Given the description of an element on the screen output the (x, y) to click on. 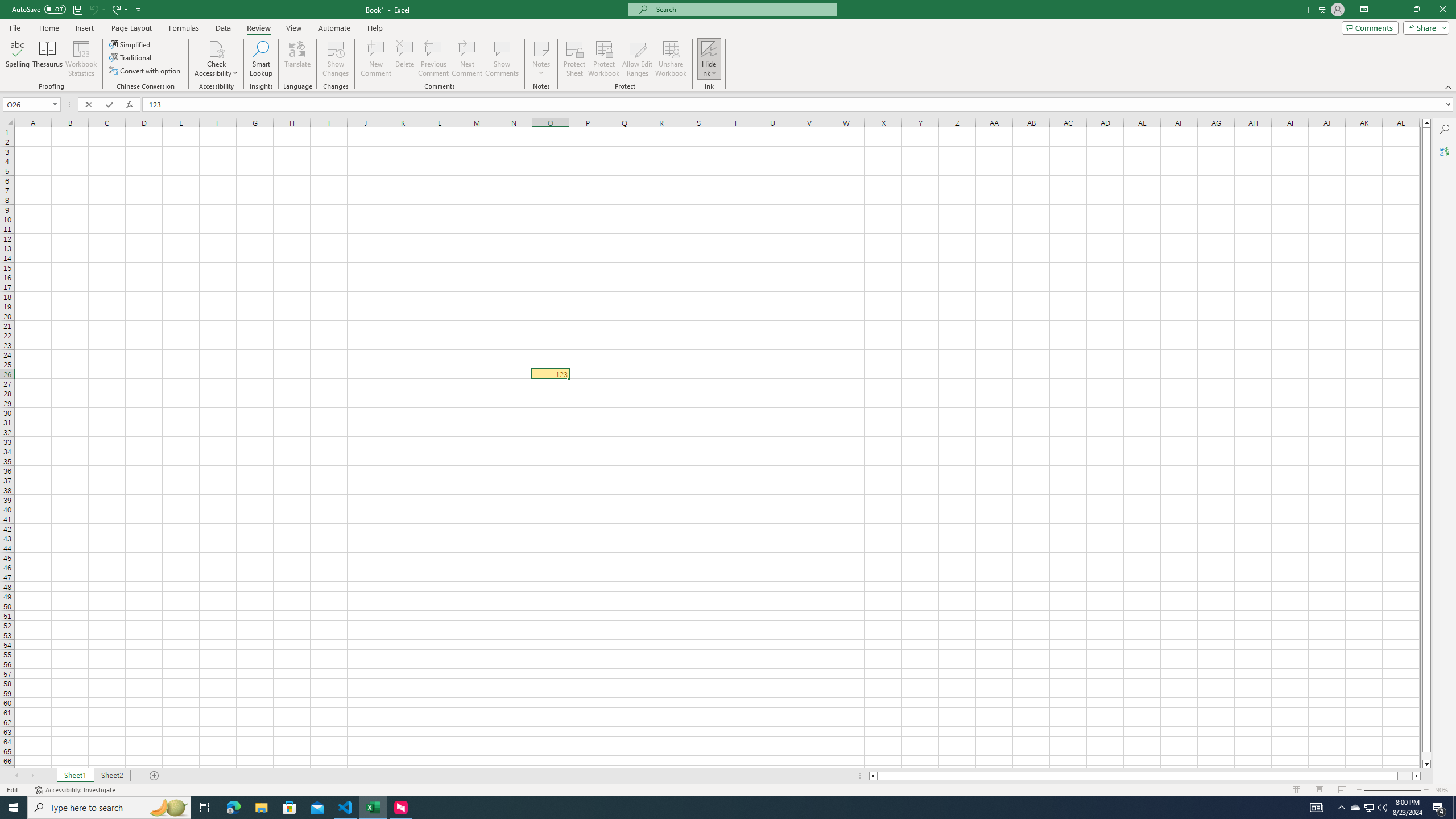
Translator (1444, 151)
Page right (1404, 775)
Save (77, 9)
Comments (1369, 27)
Workbook Statistics (81, 58)
Undo (92, 9)
Show Comments (501, 58)
Help (374, 28)
Line up (1426, 122)
Class: NetUIScrollBar (1144, 775)
Name Box (27, 104)
Home (48, 28)
Notes (541, 58)
Previous Comment (432, 58)
Collapse the Ribbon (1448, 86)
